Given the description of an element on the screen output the (x, y) to click on. 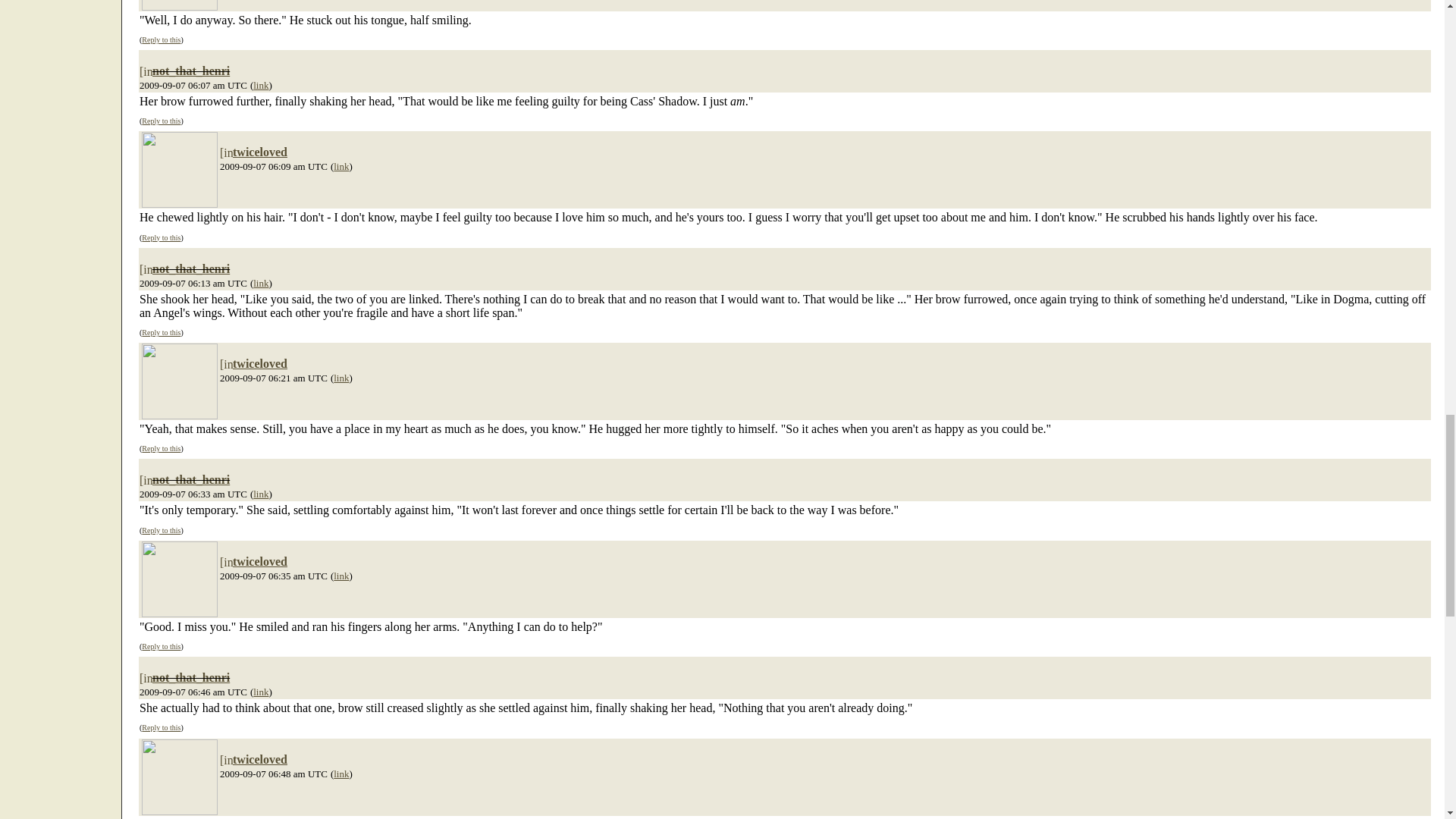
Soren Elias Chappu Skwigelf: blank - heartbroken (178, 381)
Soren Elias Chappu Skwigelf: cutieface (178, 5)
Soren Elias Chappu Skwigelf: crestfallen (178, 169)
